Given the description of an element on the screen output the (x, y) to click on. 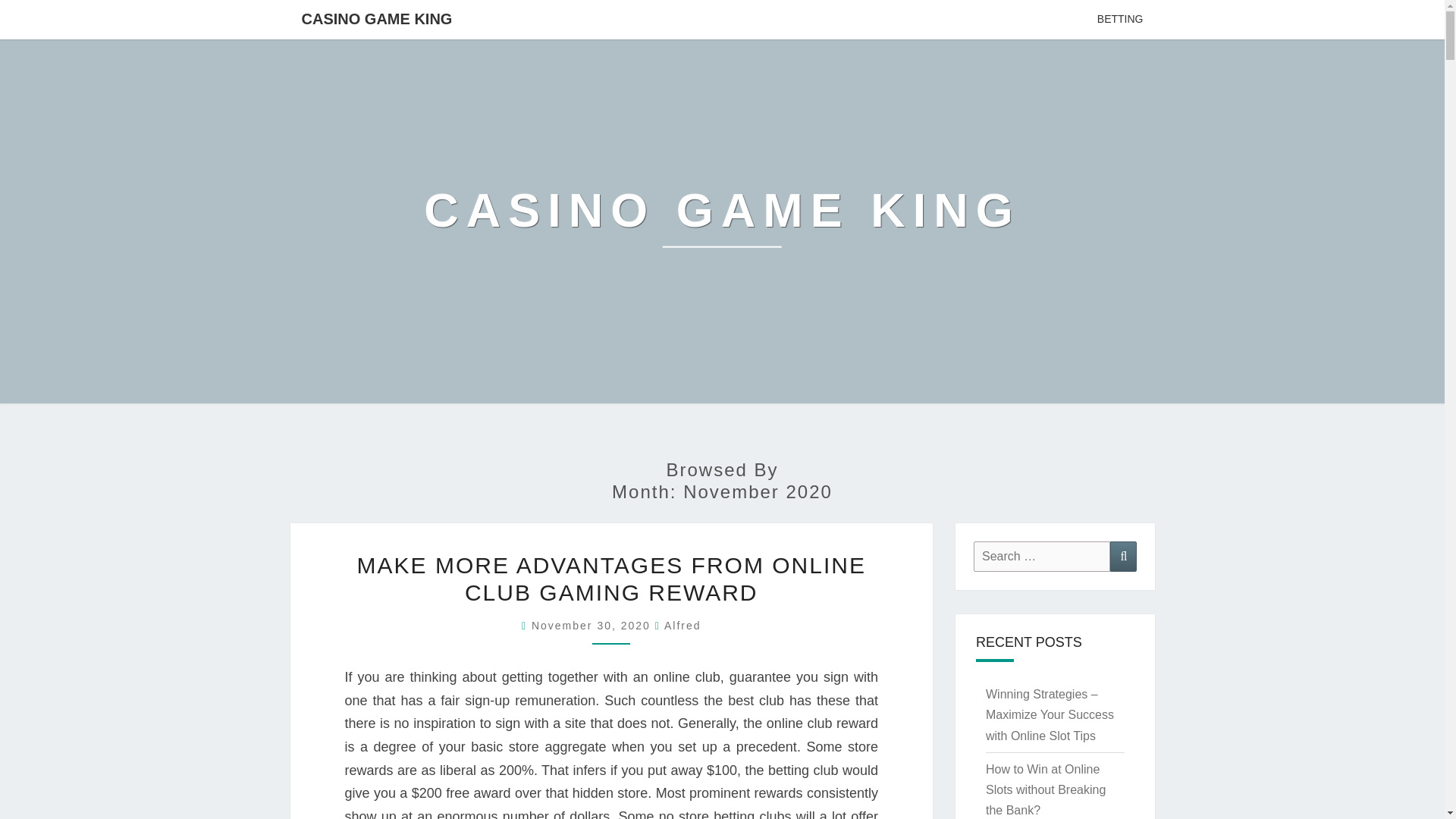
CASINO GAME KING (721, 220)
MAKE MORE ADVANTAGES FROM ONLINE CLUB GAMING REWARD (611, 578)
November 30, 2020 (593, 625)
CASINO GAME KING (376, 18)
Casino game king (721, 220)
BETTING (1120, 19)
11:37 am (593, 625)
View all posts by Alfred (682, 625)
Alfred (682, 625)
